Given the description of an element on the screen output the (x, y) to click on. 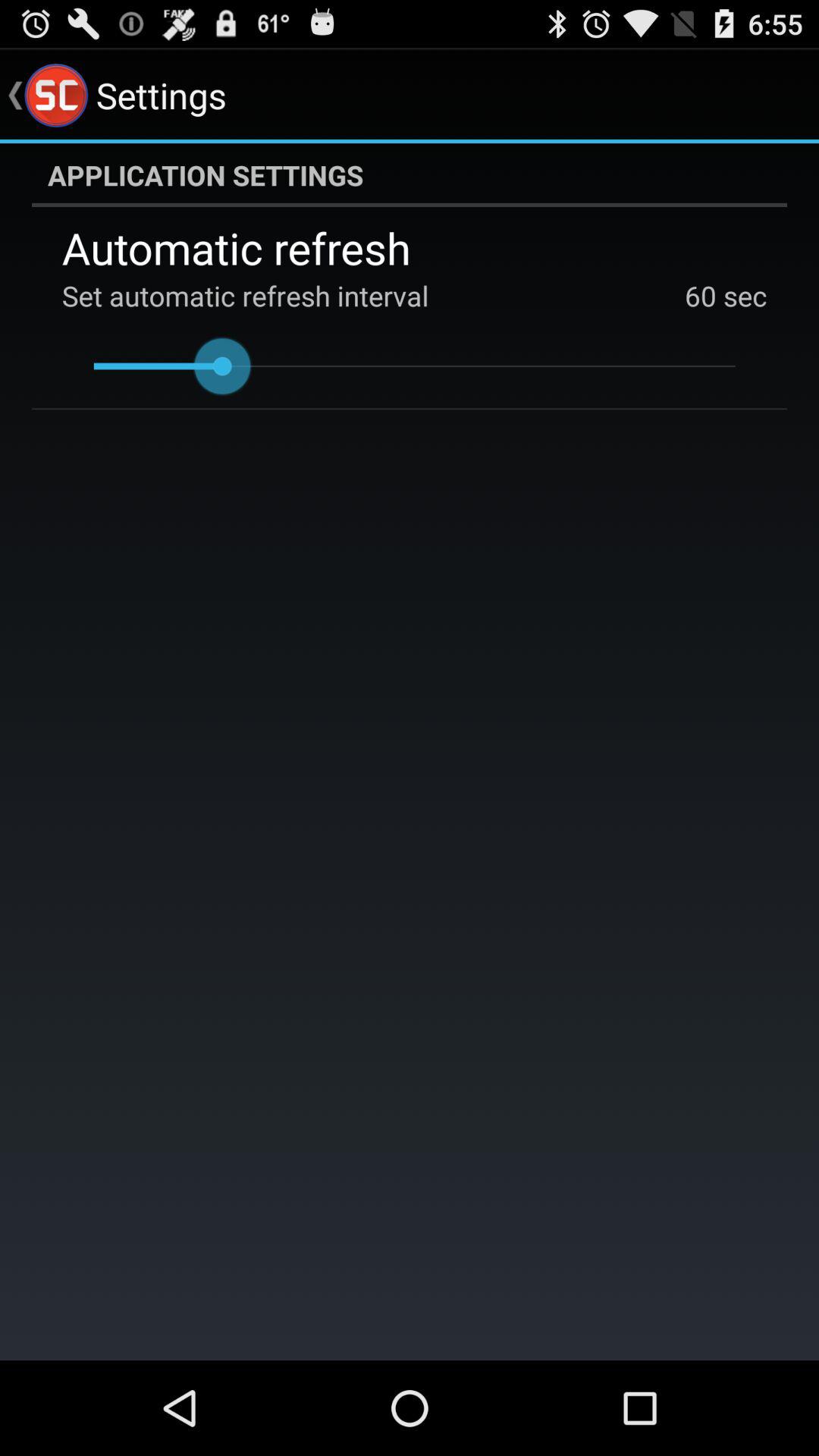
scroll to the  sec app (741, 295)
